Given the description of an element on the screen output the (x, y) to click on. 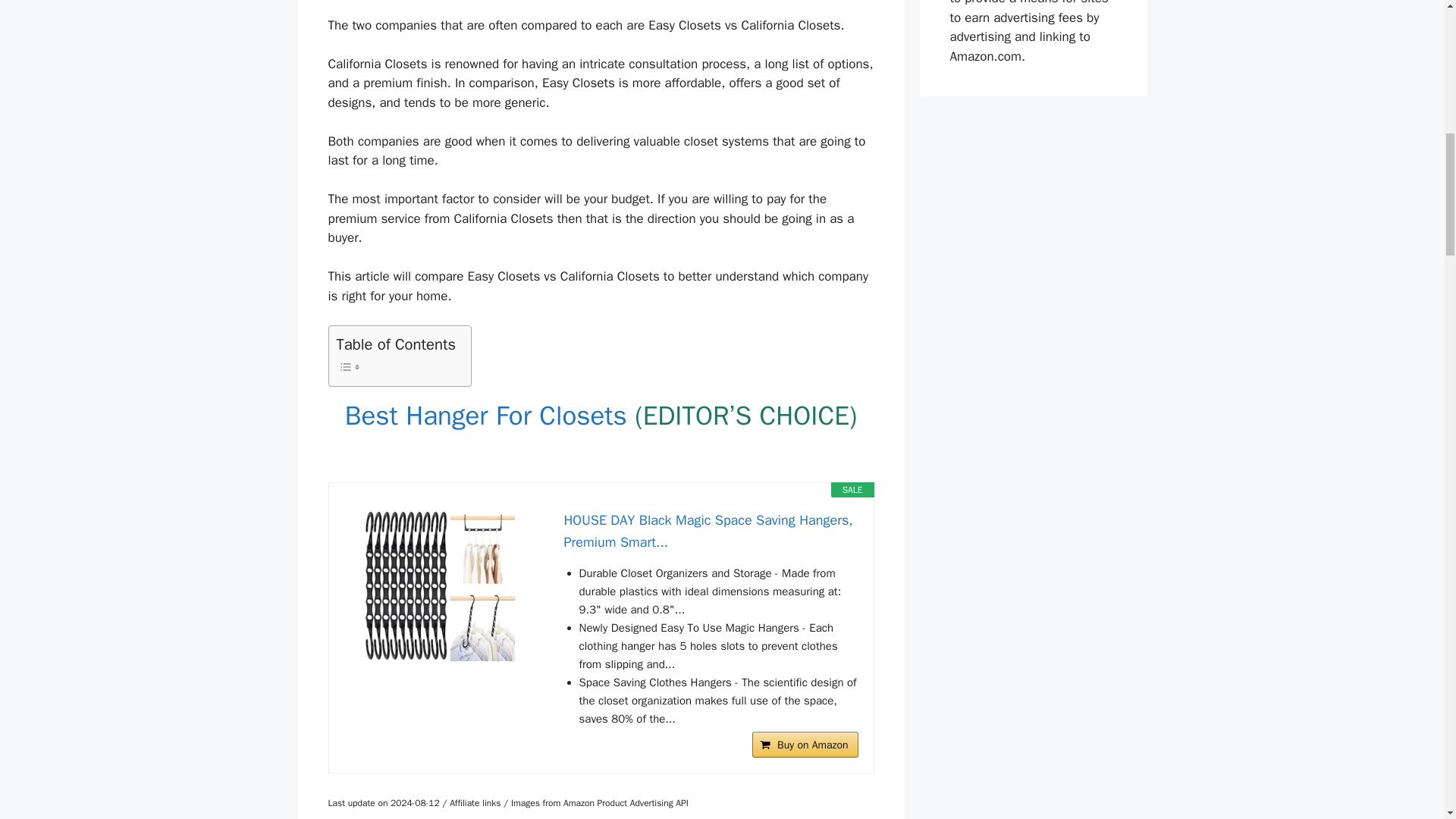
HOUSE DAY Black Magic Space Saving Hangers, Premium Smart... (438, 584)
HOUSE DAY Black Magic Space Saving Hangers, Premium Smart... (711, 531)
Buy on Amazon (804, 744)
HOUSE DAY Black Magic Space Saving Hangers, Premium Smart... (711, 531)
Best Hanger For Closets (489, 415)
Buy on Amazon (804, 744)
